Given the description of an element on the screen output the (x, y) to click on. 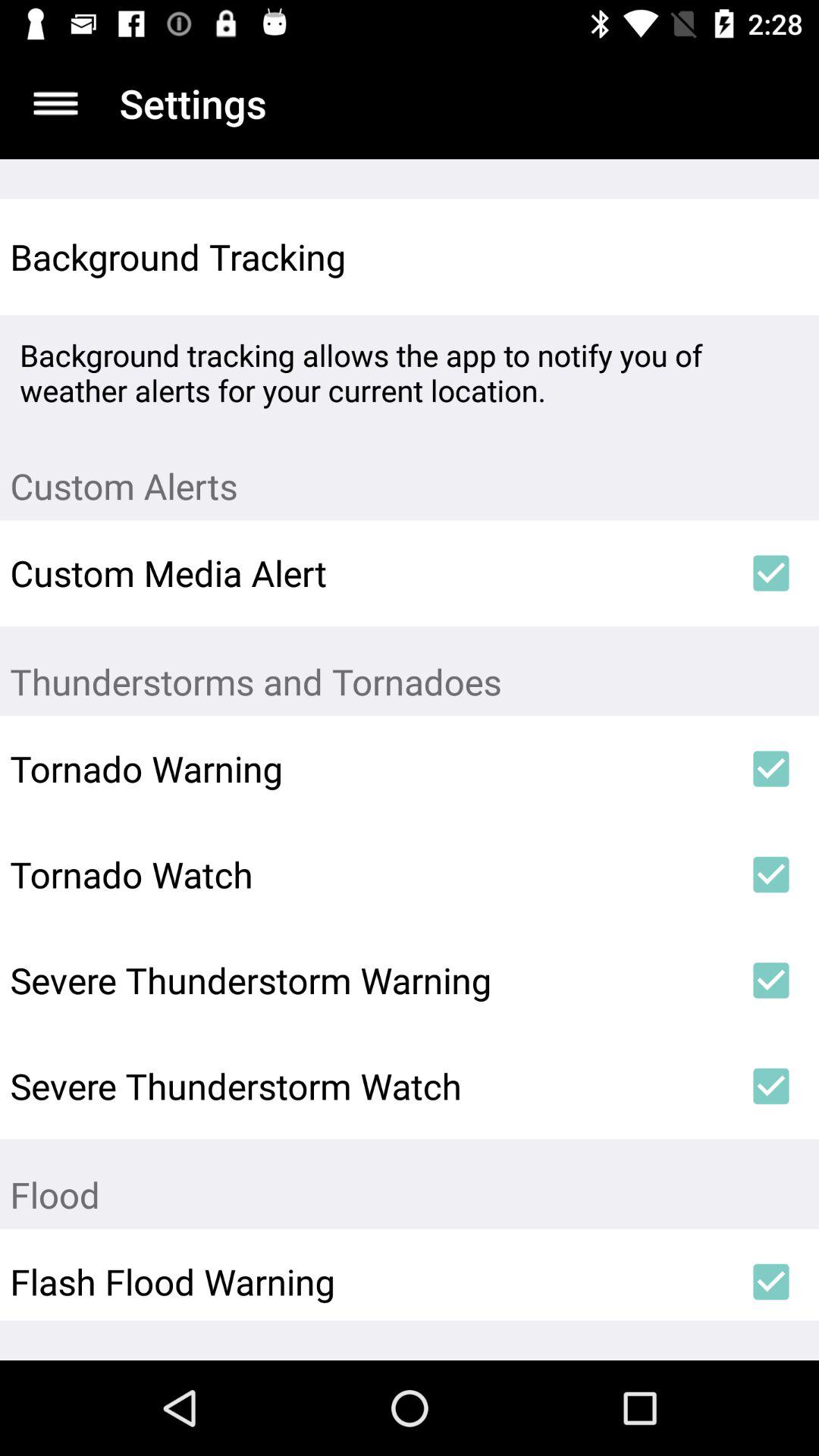
press item to the left of settings item (55, 103)
